Given the description of an element on the screen output the (x, y) to click on. 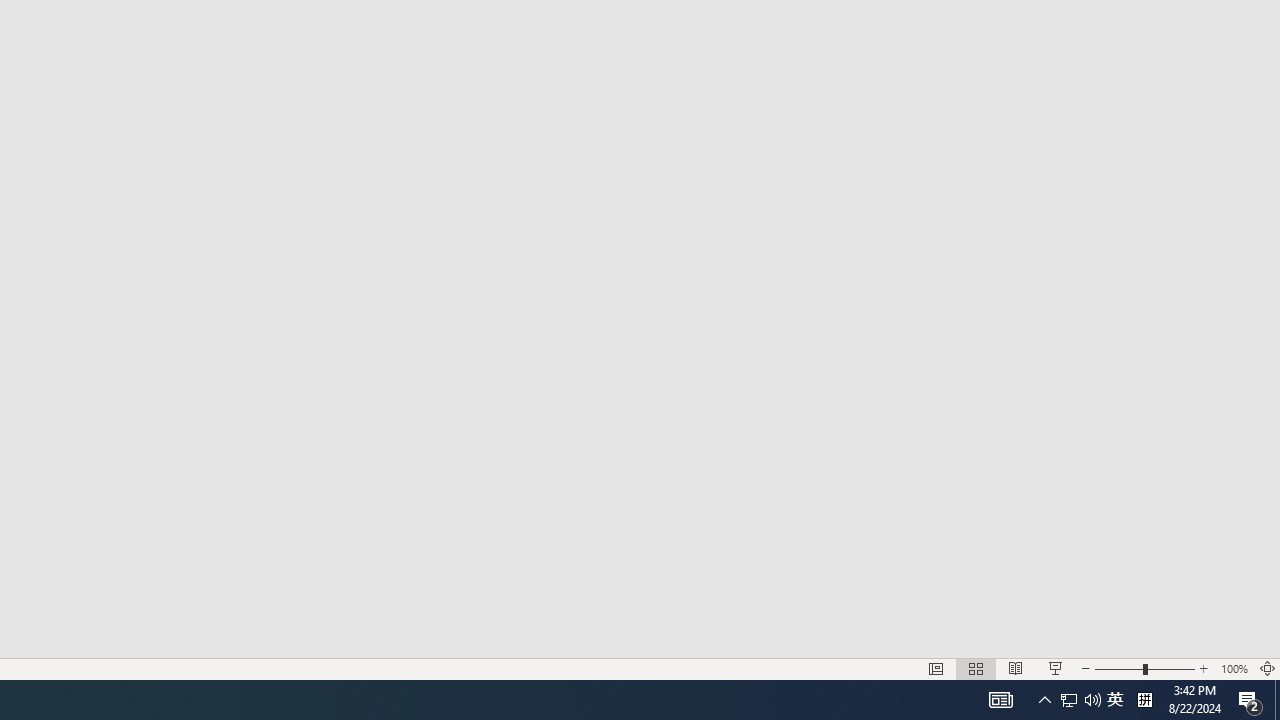
Zoom 100% (1234, 668)
